Given the description of an element on the screen output the (x, y) to click on. 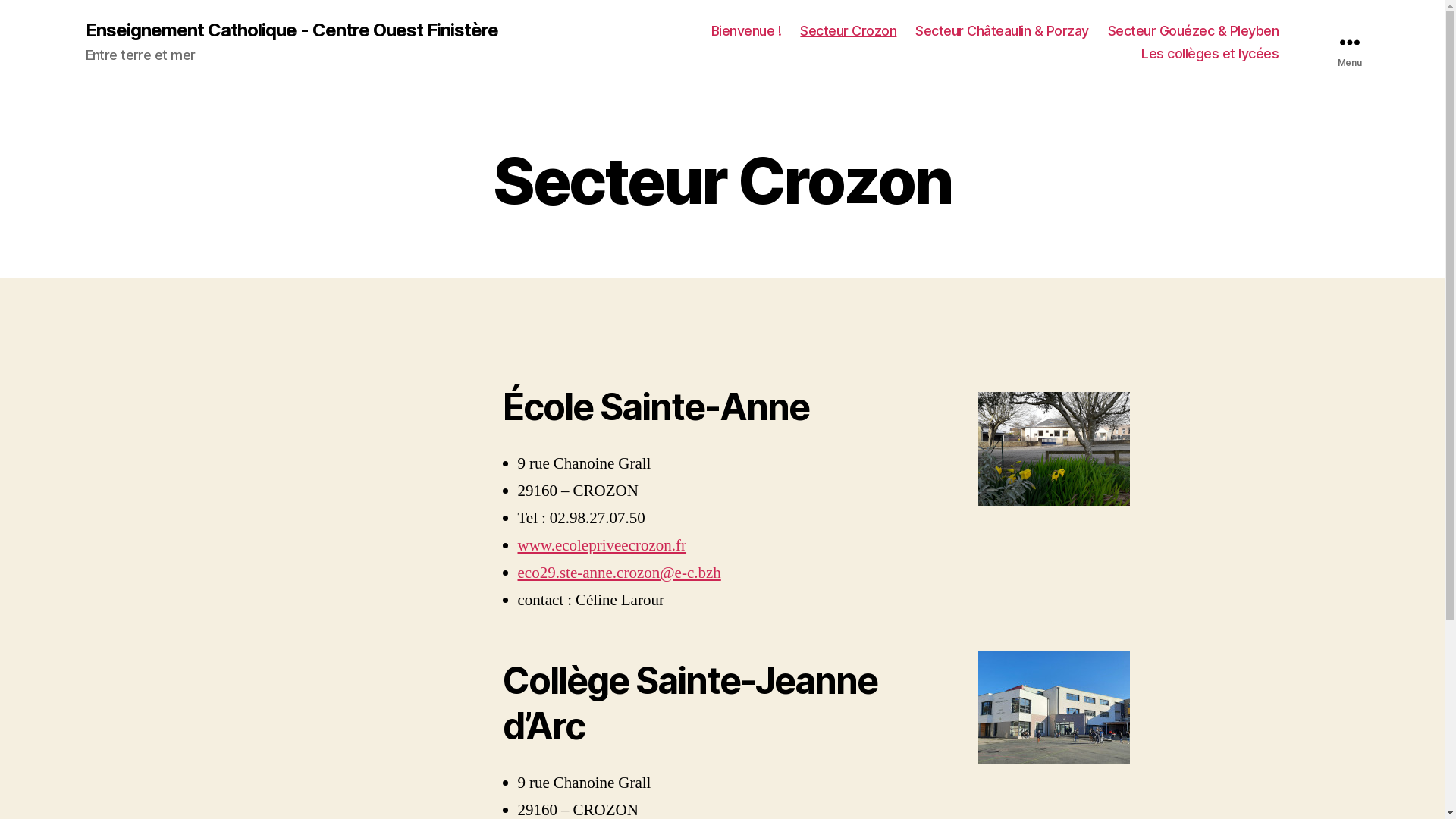
eco29.ste-anne.crozon@e-c.bzh Element type: text (618, 572)
www.ecolepriveecrozon.fr Element type: text (601, 545)
Menu Element type: text (1348, 42)
Secteur Crozon Element type: text (848, 30)
Bienvenue ! Element type: text (746, 30)
